Given the description of an element on the screen output the (x, y) to click on. 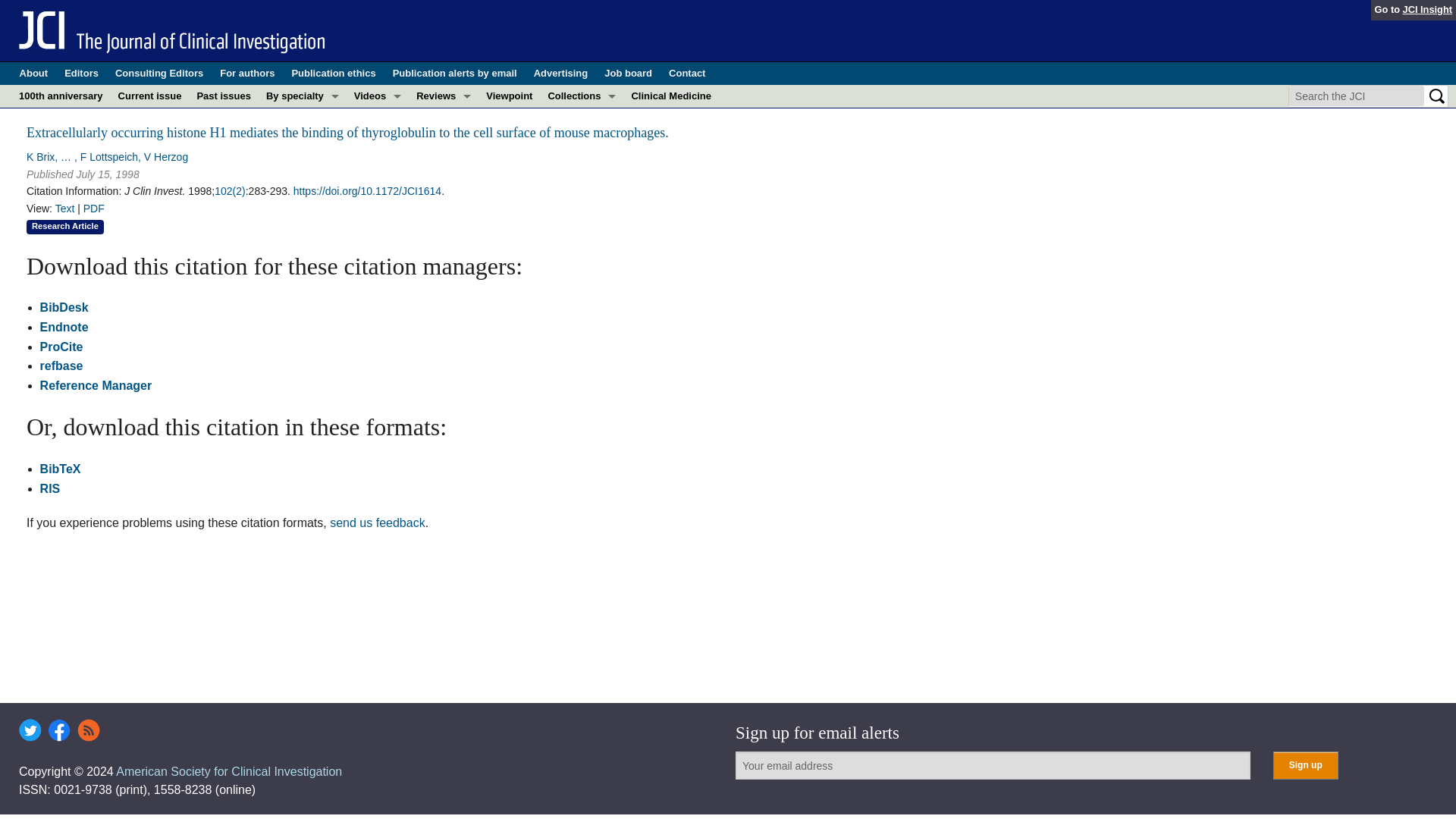
Immunology (302, 187)
Author's Takes (377, 141)
Metabolism (302, 210)
RSS (88, 730)
Editors (81, 73)
100th anniversary (60, 96)
Past issues (224, 96)
JCI Insight (1427, 9)
Neuroscience (302, 255)
By specialty (302, 96)
Reviews (444, 96)
COVID-19 (302, 118)
Publication ethics (333, 73)
Twitter (30, 730)
Current issue (149, 96)
